Given the description of an element on the screen output the (x, y) to click on. 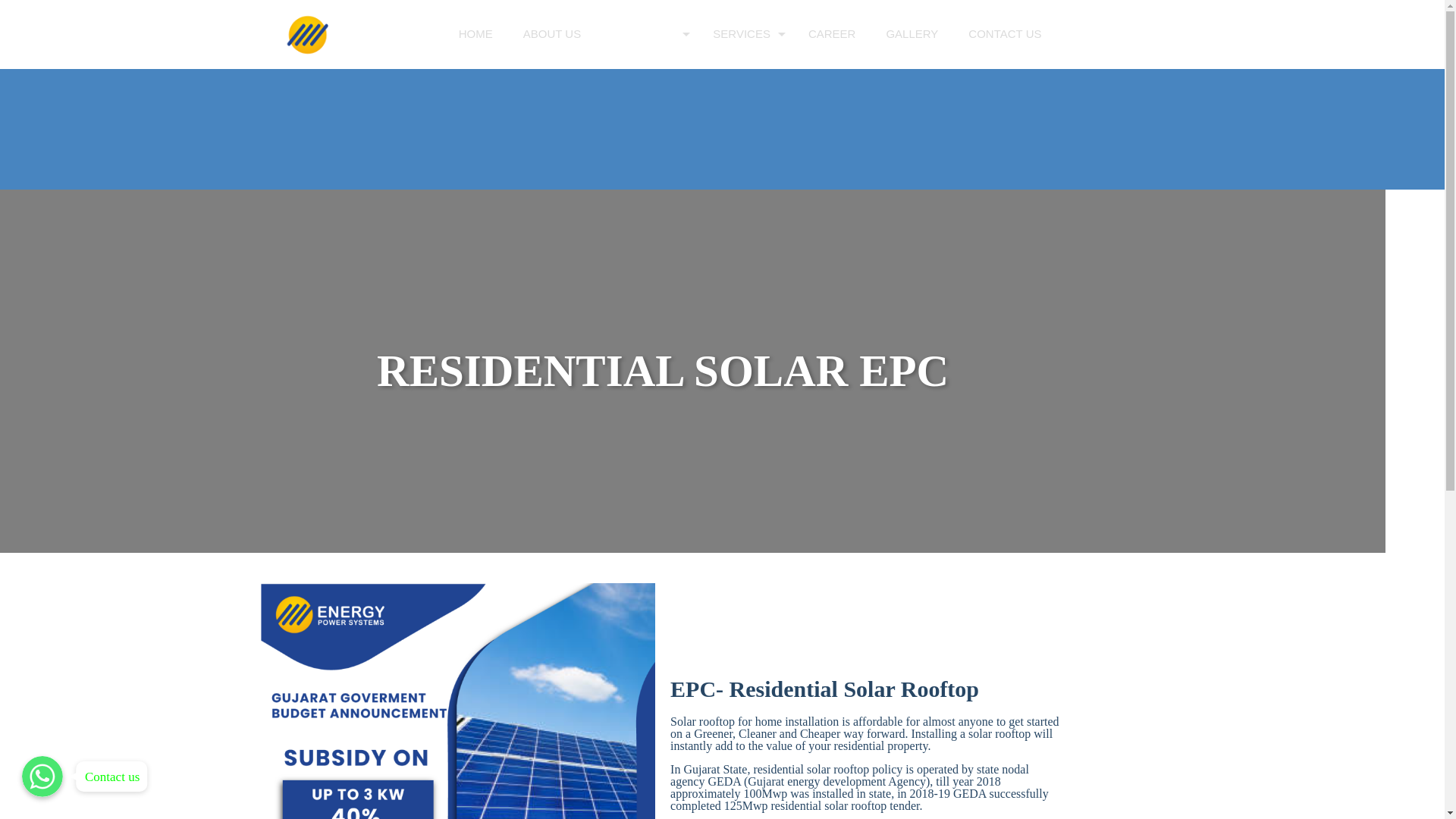
SERVICES (745, 33)
PRODUCTS (646, 33)
CONTACT US (1005, 33)
CAREER (831, 33)
HOME (476, 33)
ABOUT US (551, 33)
Energy Power Systems (343, 33)
GALLERY (911, 33)
